Given the description of an element on the screen output the (x, y) to click on. 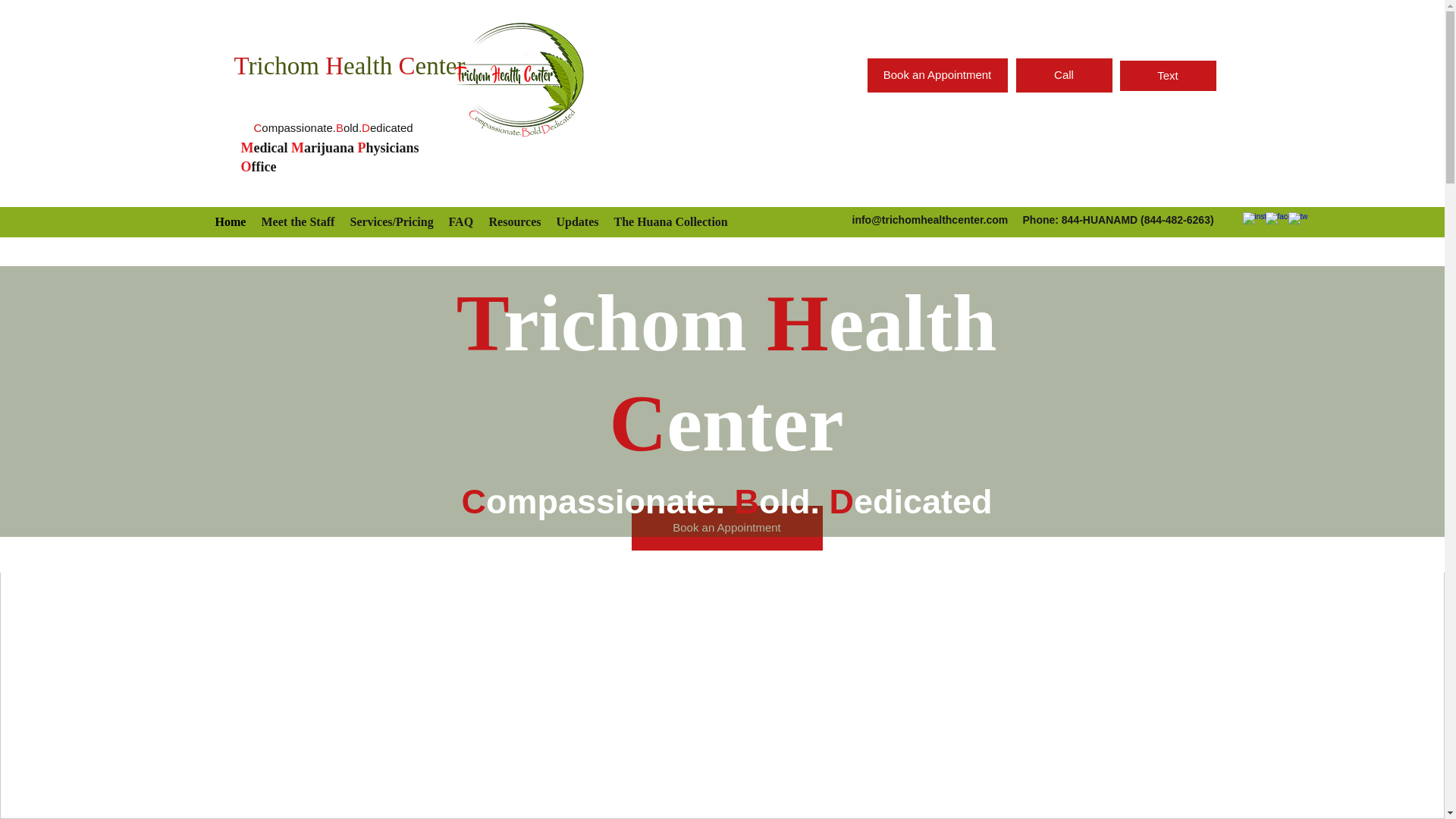
Resources (514, 221)
FAQ (461, 221)
Updates (577, 221)
Call (1064, 75)
enter (439, 65)
ealth (367, 65)
Home (230, 221)
Book an Appointment (937, 75)
Book an Appointment (726, 528)
The Huana Collection (671, 221)
